Given the description of an element on the screen output the (x, y) to click on. 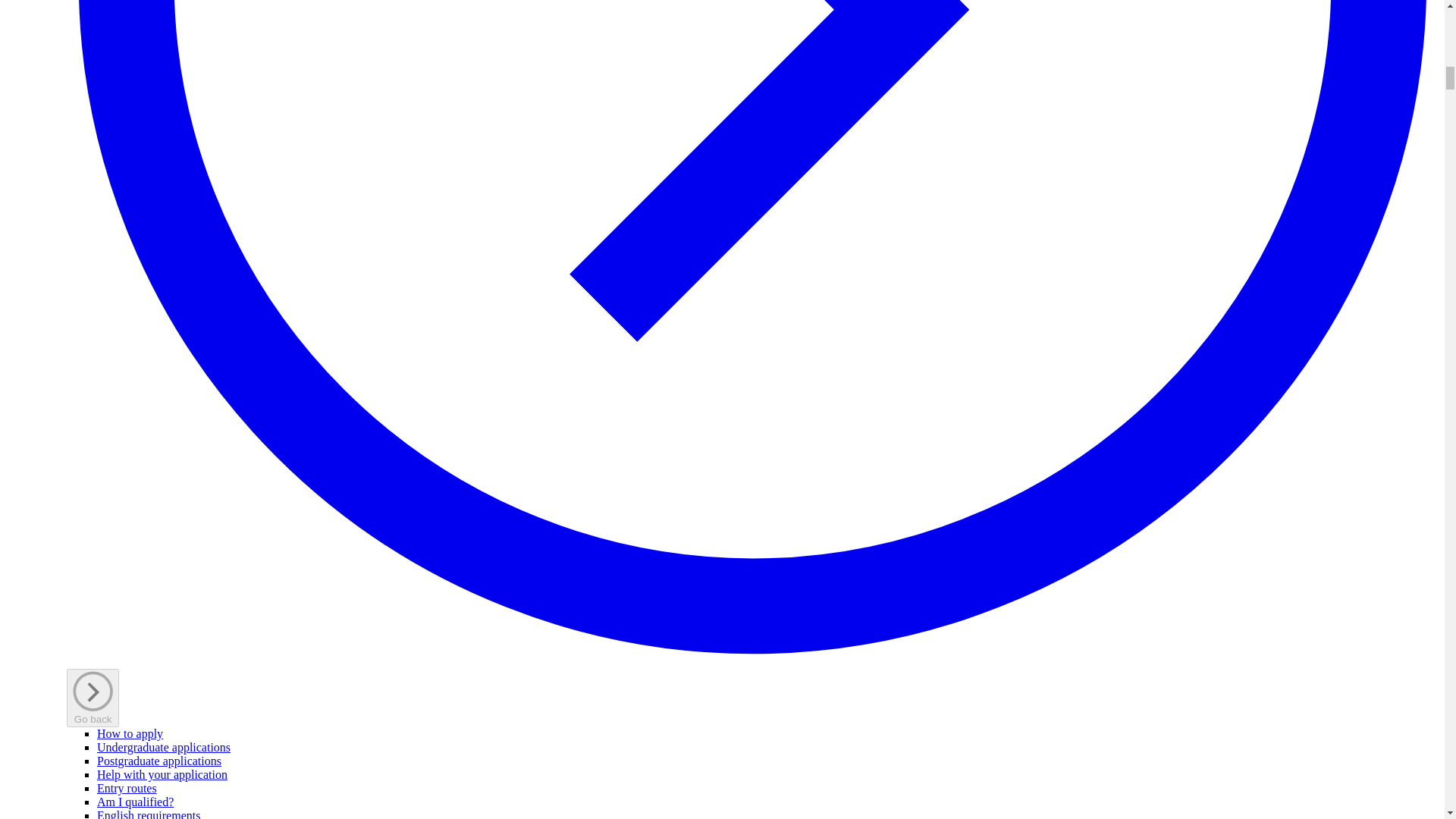
How to apply (130, 733)
Go back (92, 698)
Undergraduate applications (163, 747)
Am I qualified? (135, 801)
English requirements (148, 814)
Postgraduate applications (159, 760)
Help with your application (162, 774)
Entry routes (127, 788)
